Given the description of an element on the screen output the (x, y) to click on. 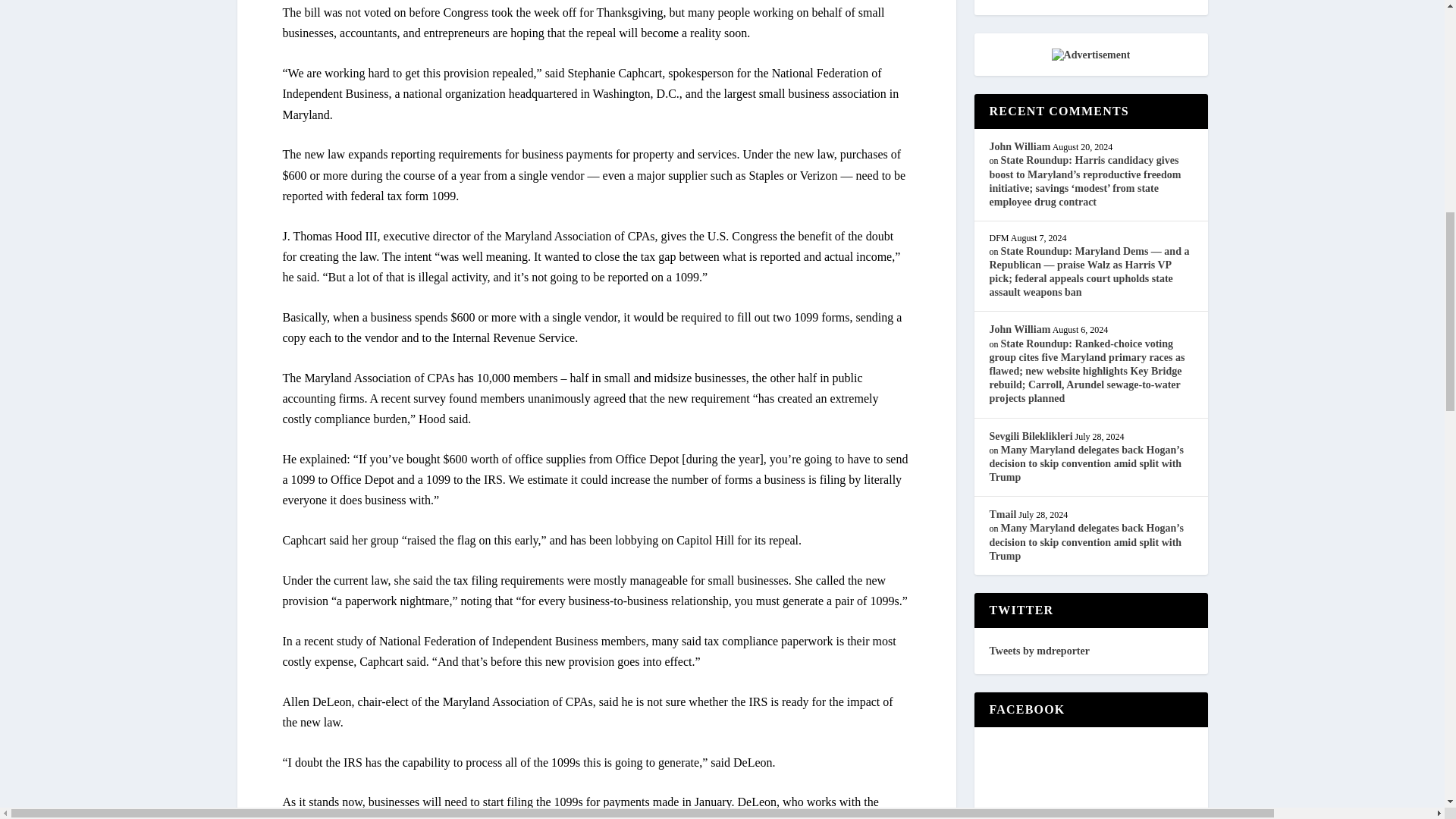
John William (1018, 146)
John William (1018, 328)
